Given the description of an element on the screen output the (x, y) to click on. 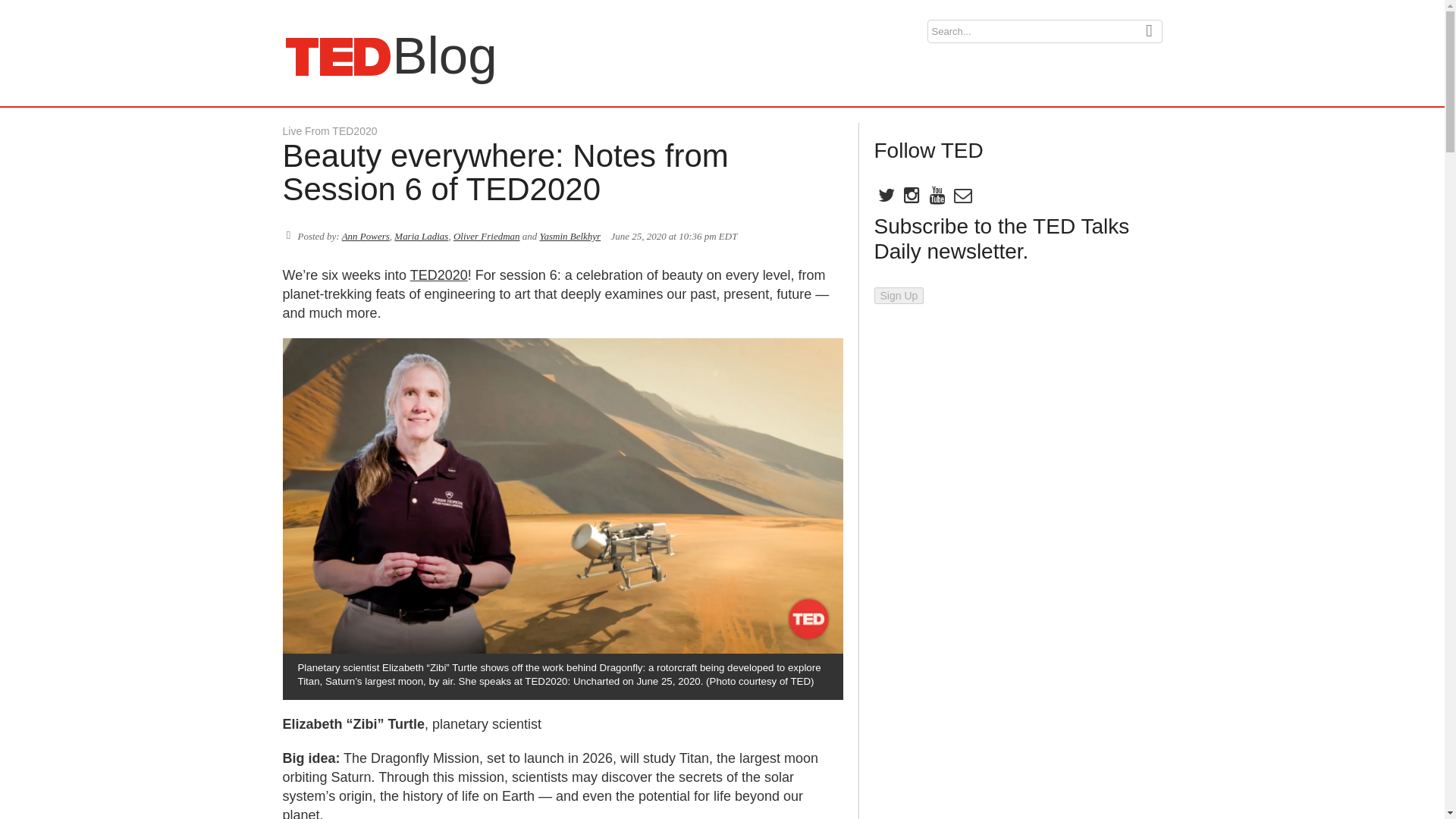
Ann Powers (366, 235)
TED2020 (438, 274)
Live From TED2020 (329, 131)
TED Blog (337, 56)
Oliver Friedman (485, 235)
Posts by Maria Ladias (421, 235)
Sign Up (898, 295)
Twitter (884, 197)
Subscribe to TED Blog by email (961, 197)
YouTube (935, 197)
